Given the description of an element on the screen output the (x, y) to click on. 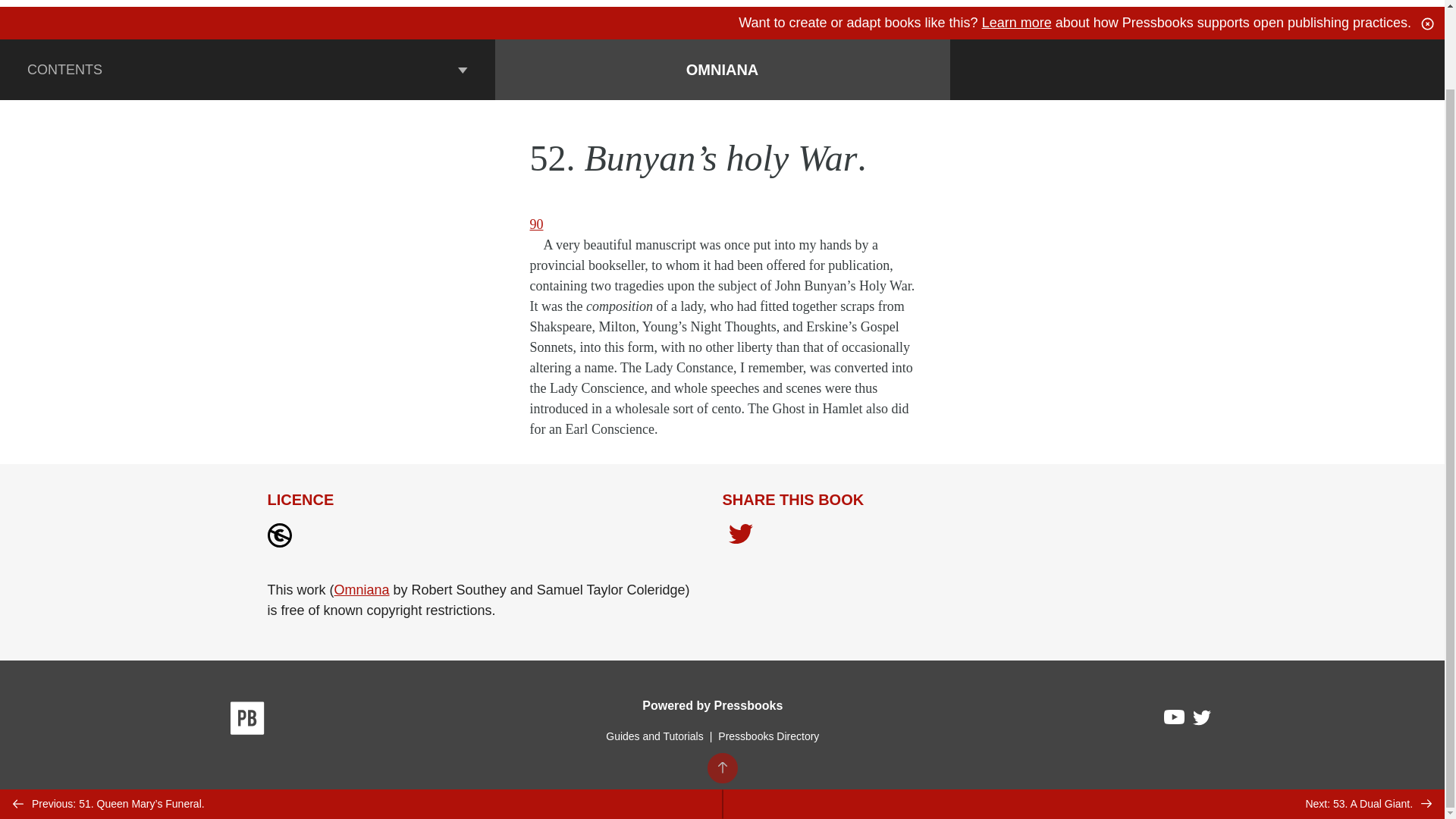
Guides and Tutorials (654, 736)
Pressbooks on YouTube (1174, 721)
OMNIANA (721, 69)
Learn more (1016, 22)
Powered by Pressbooks (712, 705)
CONTENTS (247, 69)
Share on Twitter (740, 535)
Pressbooks Directory (768, 736)
90 (536, 224)
Share on Twitter (740, 537)
Omniana (362, 589)
BACK TO TOP (721, 678)
